Given the description of an element on the screen output the (x, y) to click on. 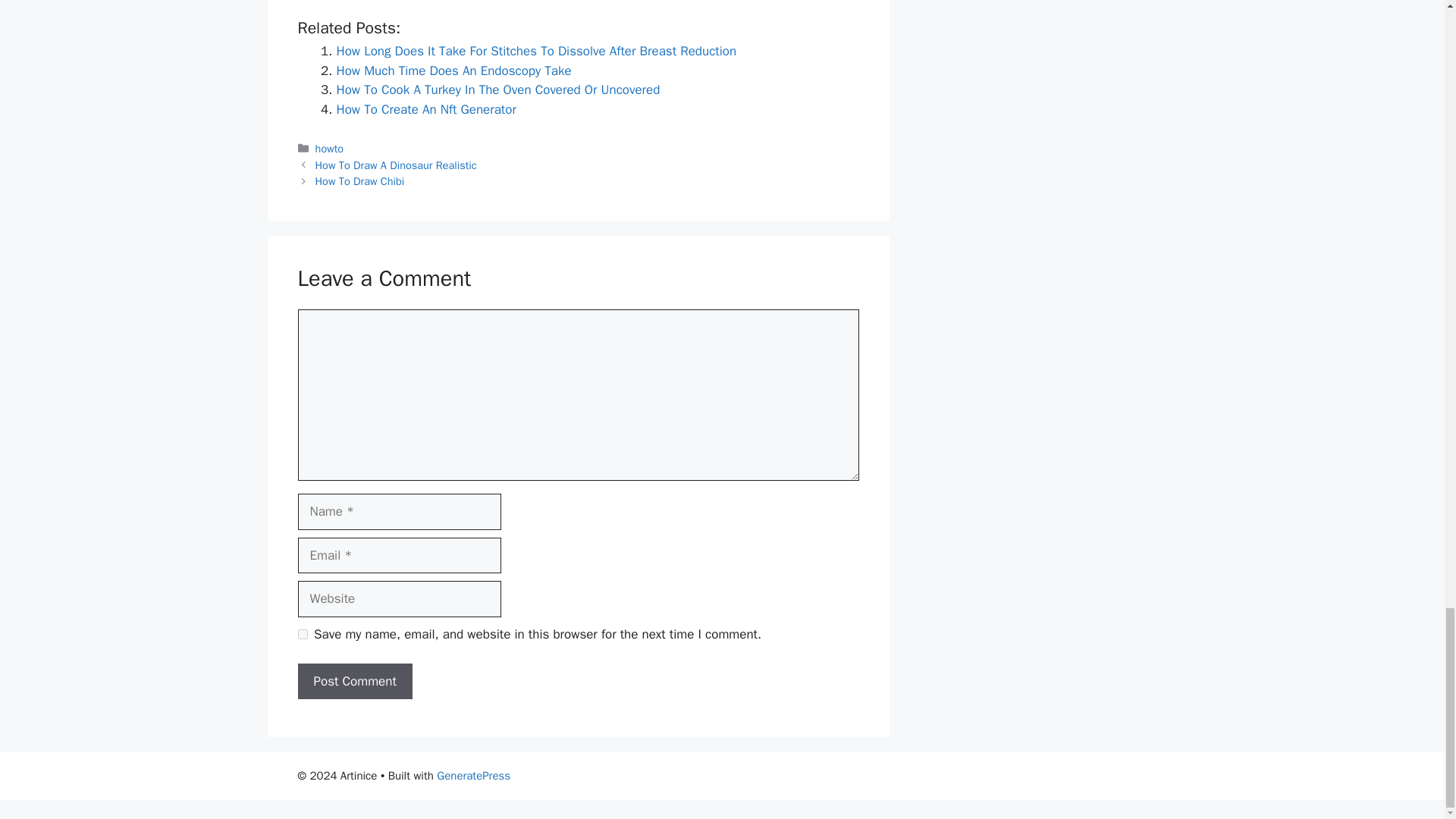
howto (329, 148)
How To Draw Chibi (359, 181)
How To Draw A Dinosaur Realistic (396, 164)
Post Comment (354, 681)
Post Comment (354, 681)
How To Cook A Turkey In The Oven Covered Or Uncovered (498, 89)
How Much Time Does An Endoscopy Take (454, 70)
How To Create An Nft Generator (426, 109)
yes (302, 634)
